Given the description of an element on the screen output the (x, y) to click on. 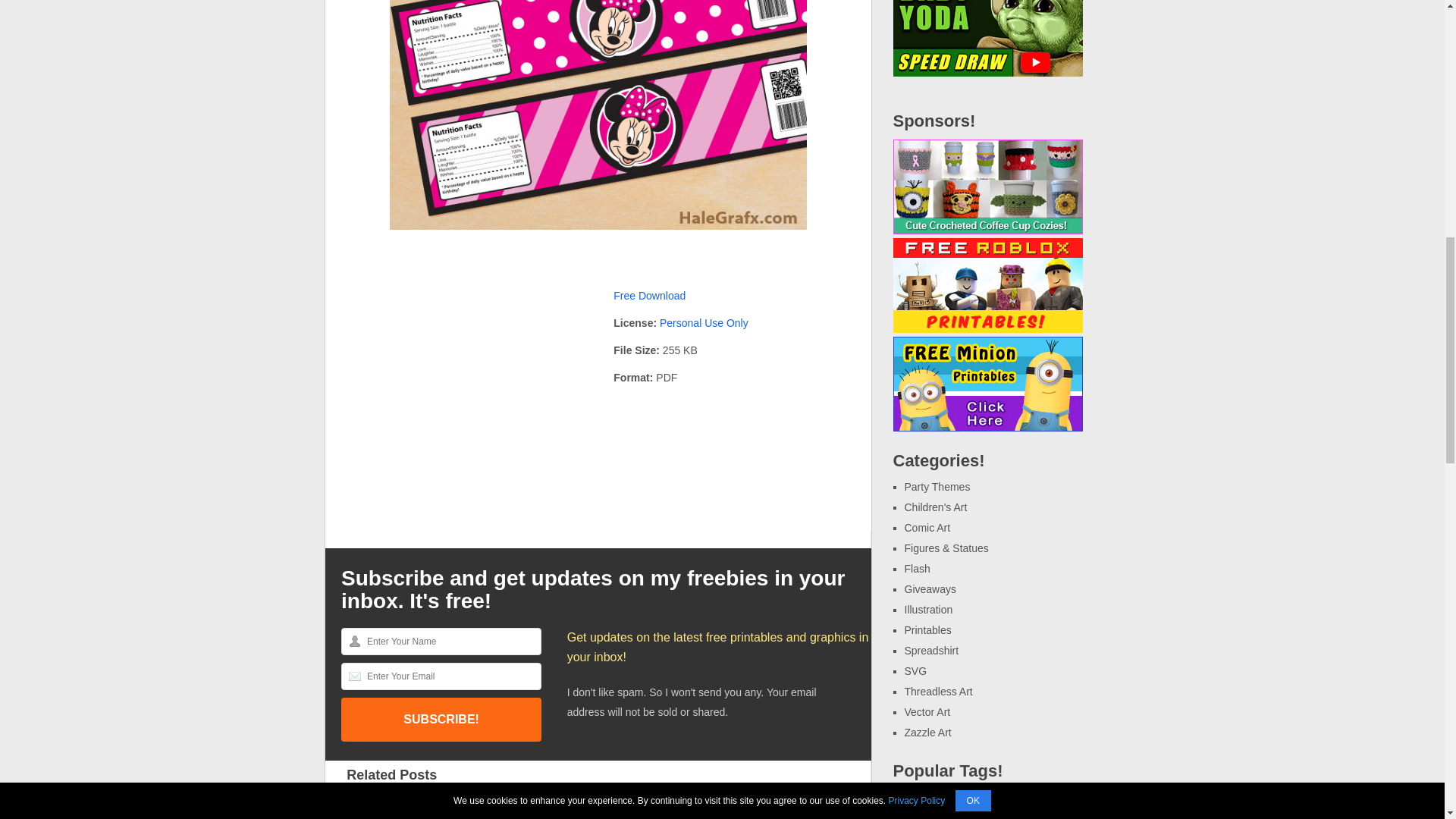
Free Download (648, 295)
SUBSCRIBE! (440, 719)
SUBSCRIBE! (440, 719)
Party Themes (936, 486)
Children's Art (935, 507)
Comic Art (927, 527)
Flash (917, 568)
Personal Use Only (703, 322)
